Given the description of an element on the screen output the (x, y) to click on. 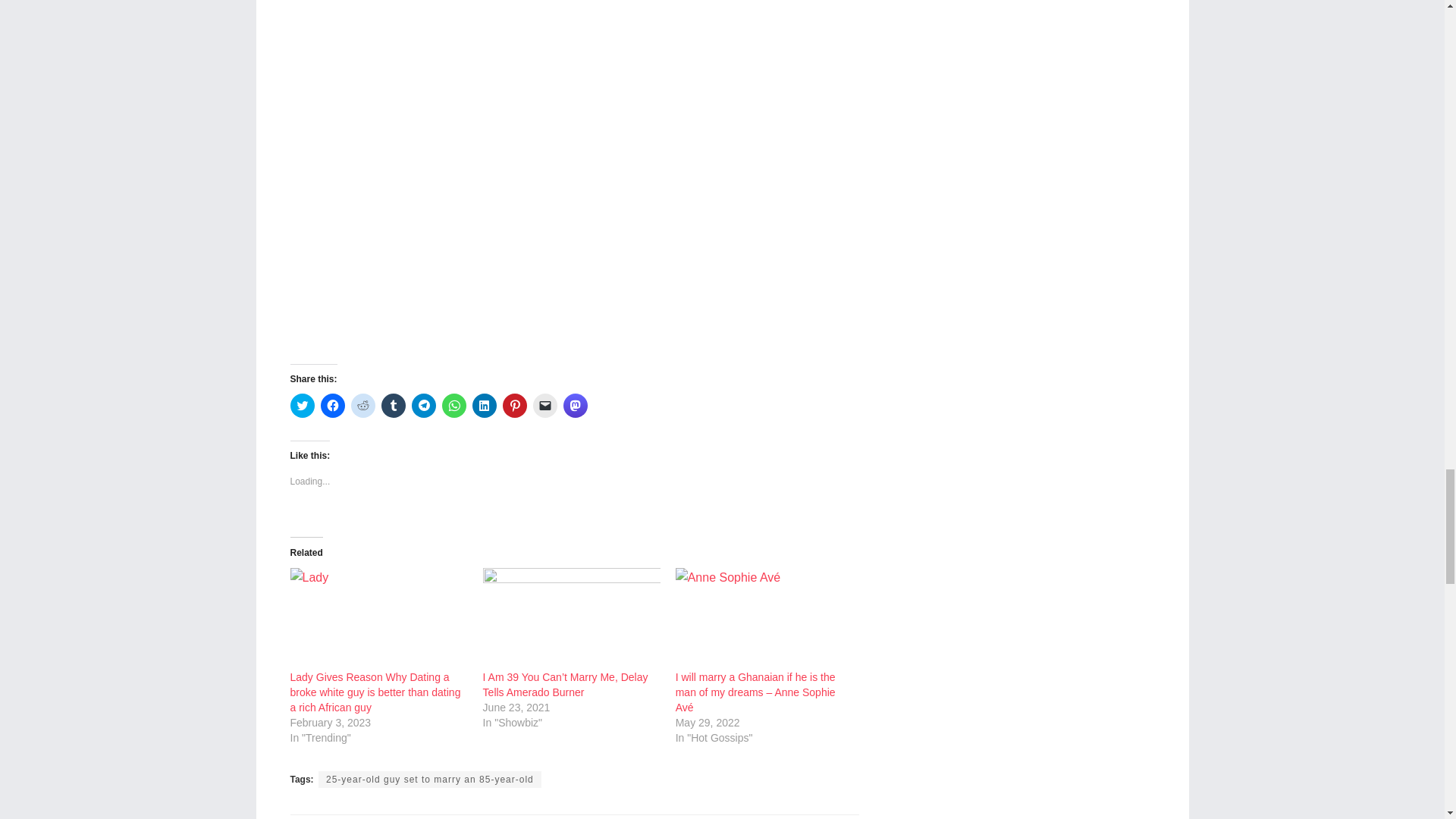
Click to share on Facebook (331, 405)
Click to share on Reddit (362, 405)
Click to share on Twitter (301, 405)
Click to share on WhatsApp (453, 405)
Click to share on Tumblr (392, 405)
Click to share on LinkedIn (483, 405)
Click to email a link to a friend (544, 405)
Click to share on Pinterest (513, 405)
Click to share on Telegram (422, 405)
